Given the description of an element on the screen output the (x, y) to click on. 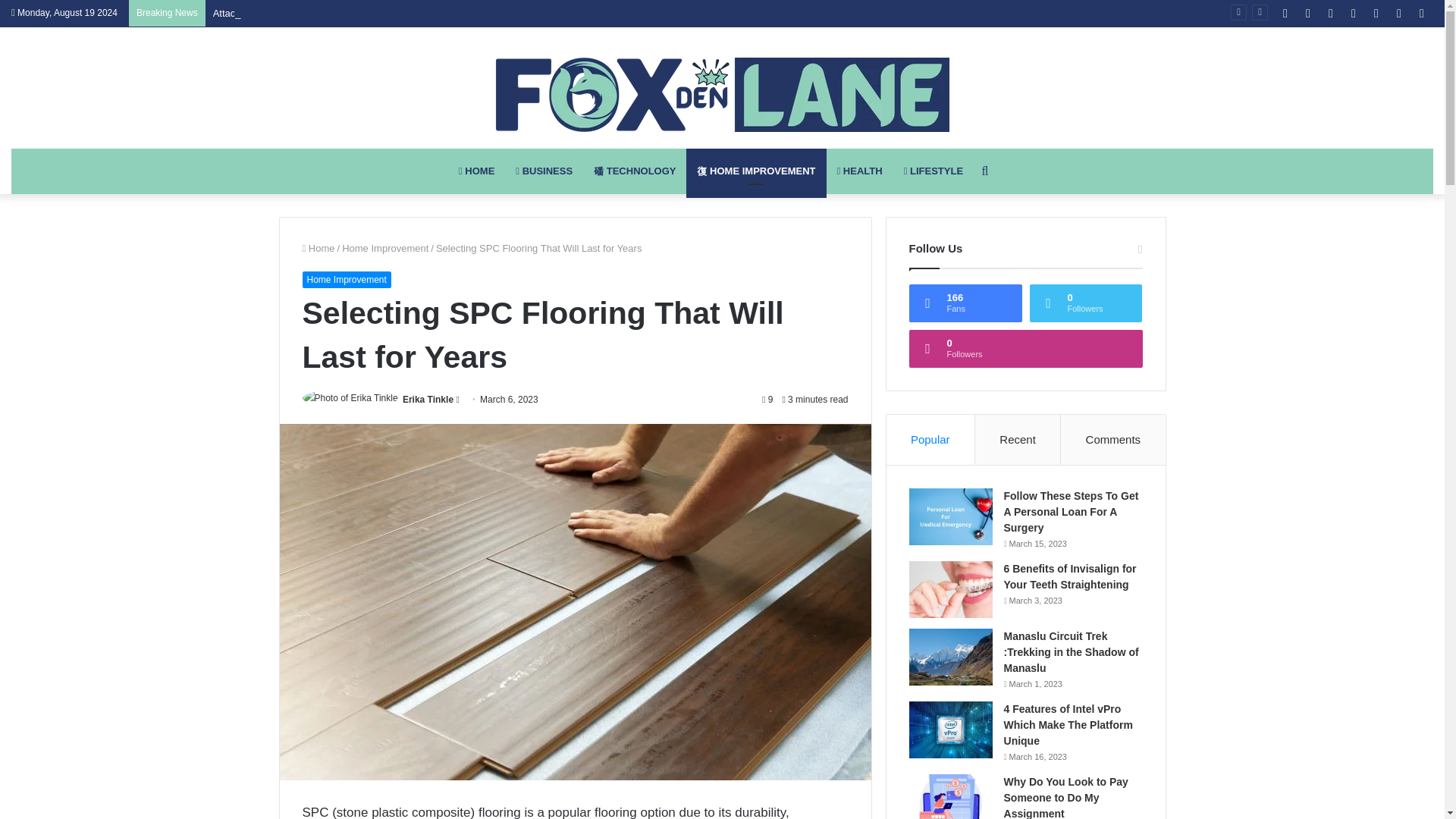
TECHNOLOGY (634, 171)
Erika Tinkle (427, 398)
BUSINESS (544, 171)
HEALTH (860, 171)
LIFESTYLE (933, 171)
Home Improvement (345, 279)
Fox Den Lane (722, 94)
Attachment Disorder (257, 12)
Home Improvement (385, 247)
HOME IMPROVEMENT (755, 171)
